Given the description of an element on the screen output the (x, y) to click on. 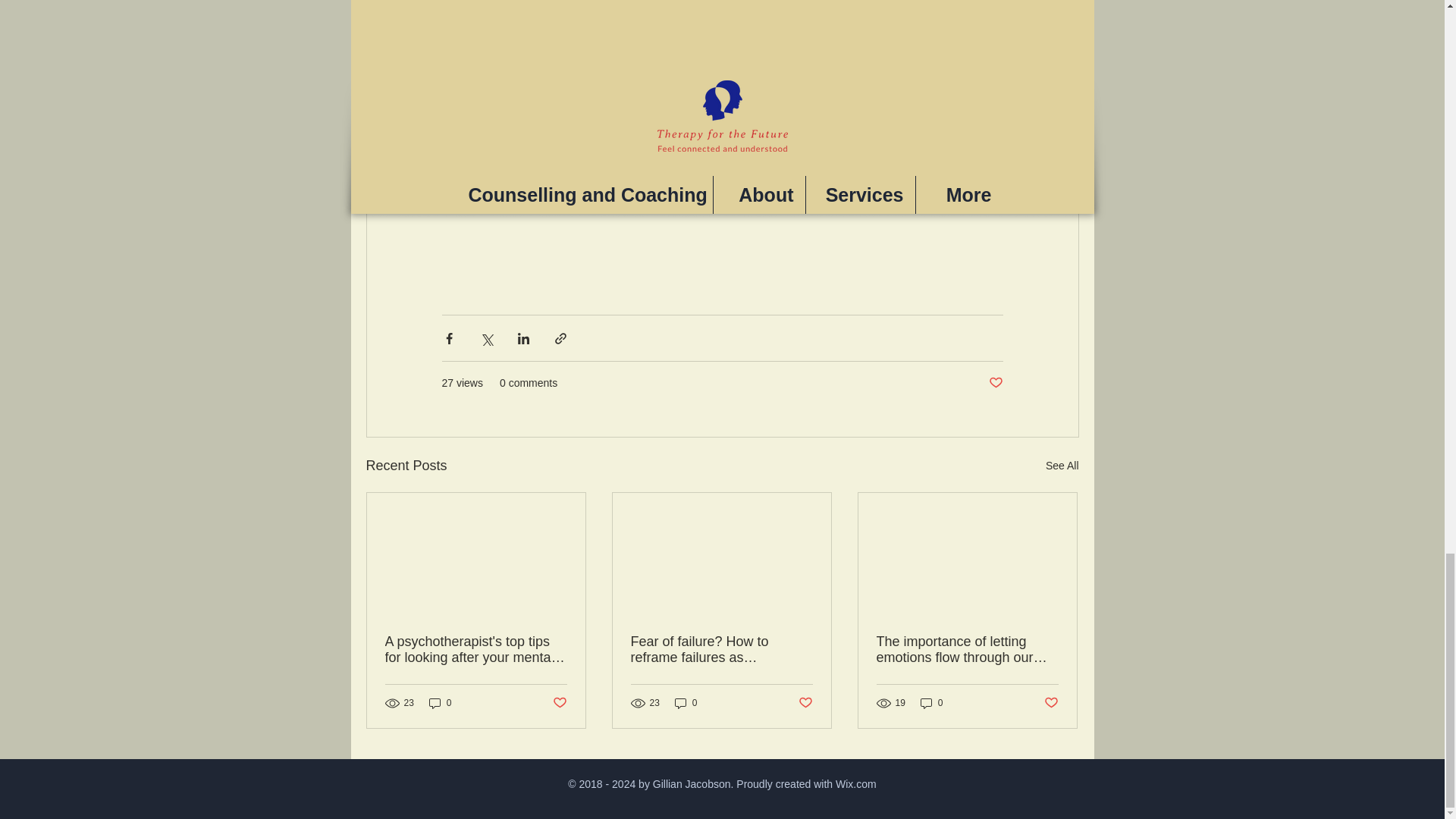
Post not marked as liked (995, 383)
Post not marked as liked (1050, 702)
0 (440, 703)
See All (1061, 465)
0 (931, 703)
0 (685, 703)
Post not marked as liked (558, 702)
